Given the description of an element on the screen output the (x, y) to click on. 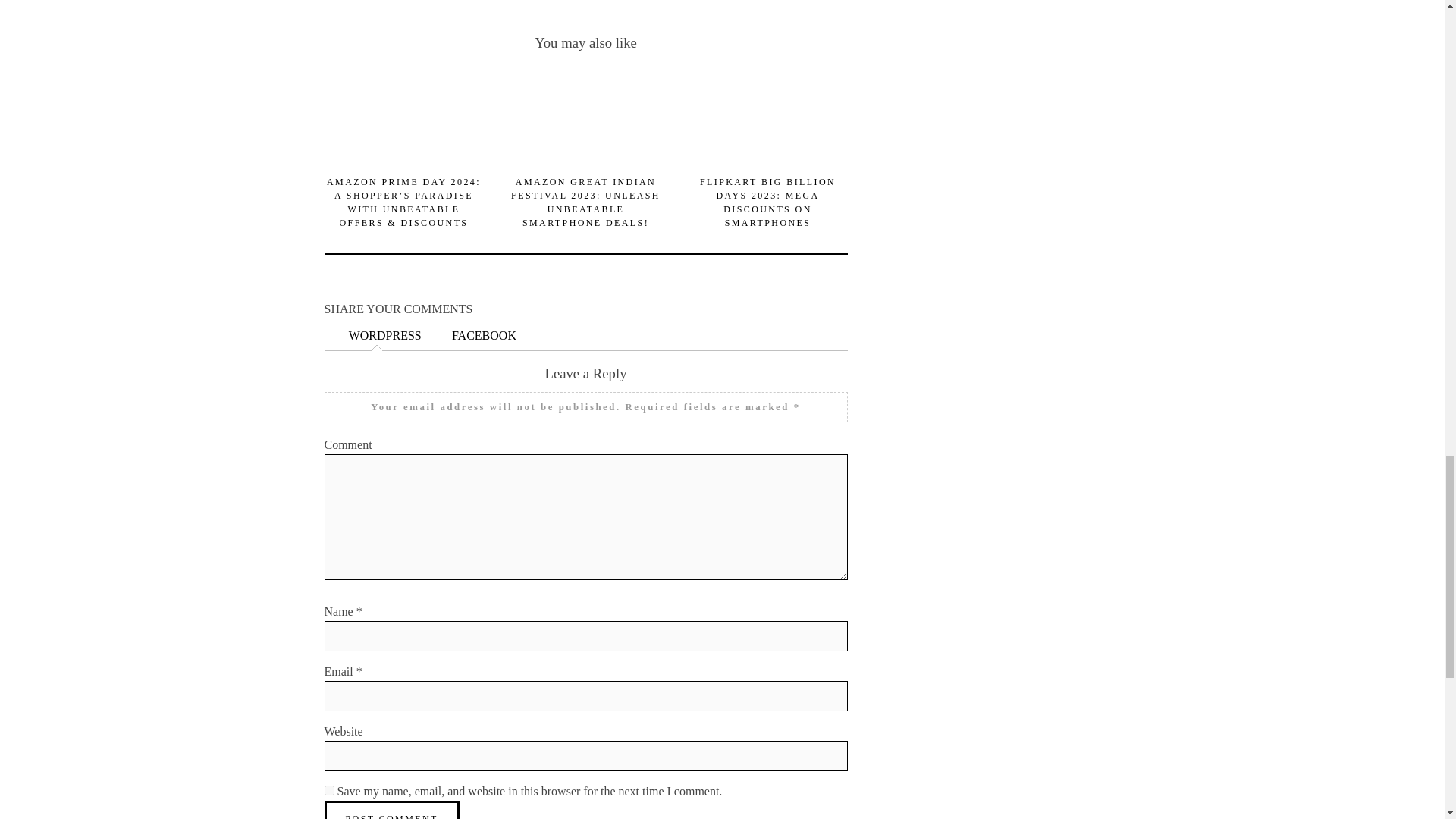
Post Comment (392, 809)
yes (329, 790)
